Given the description of an element on the screen output the (x, y) to click on. 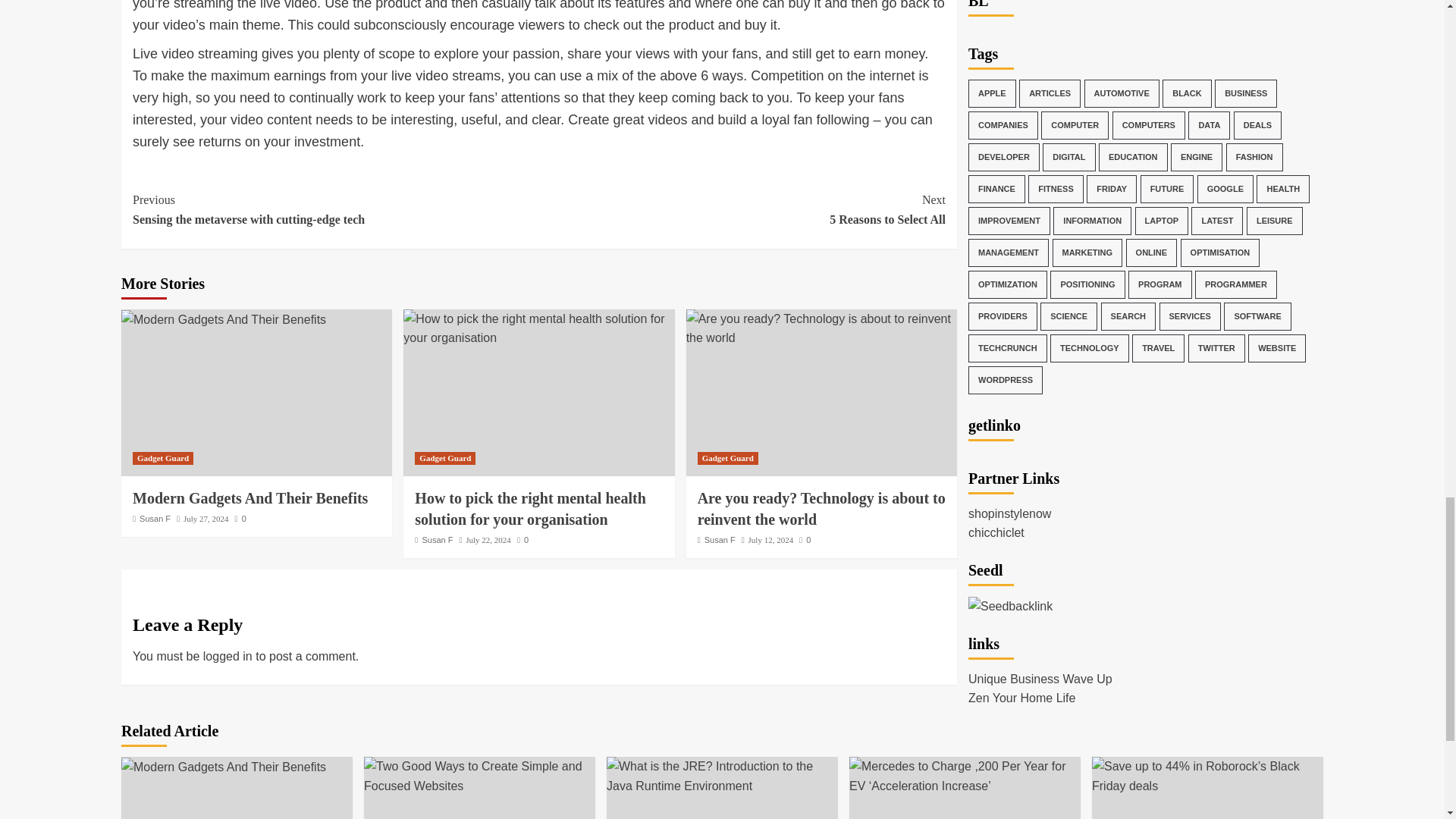
July 22, 2024 (488, 539)
0 (522, 539)
Susan F (154, 518)
Modern Gadgets And Their Benefits (250, 497)
Modern Gadgets And Their Benefits (223, 767)
Gadget Guard (445, 458)
0 (335, 209)
Are you ready? Technology is about to reinvent the world (240, 518)
Gadget Guard (820, 508)
Modern Gadgets And Their Benefits (727, 458)
Are you ready? Technology is about to reinvent the world (223, 320)
July 27, 2024 (820, 328)
Gadget Guard (205, 518)
